Given the description of an element on the screen output the (x, y) to click on. 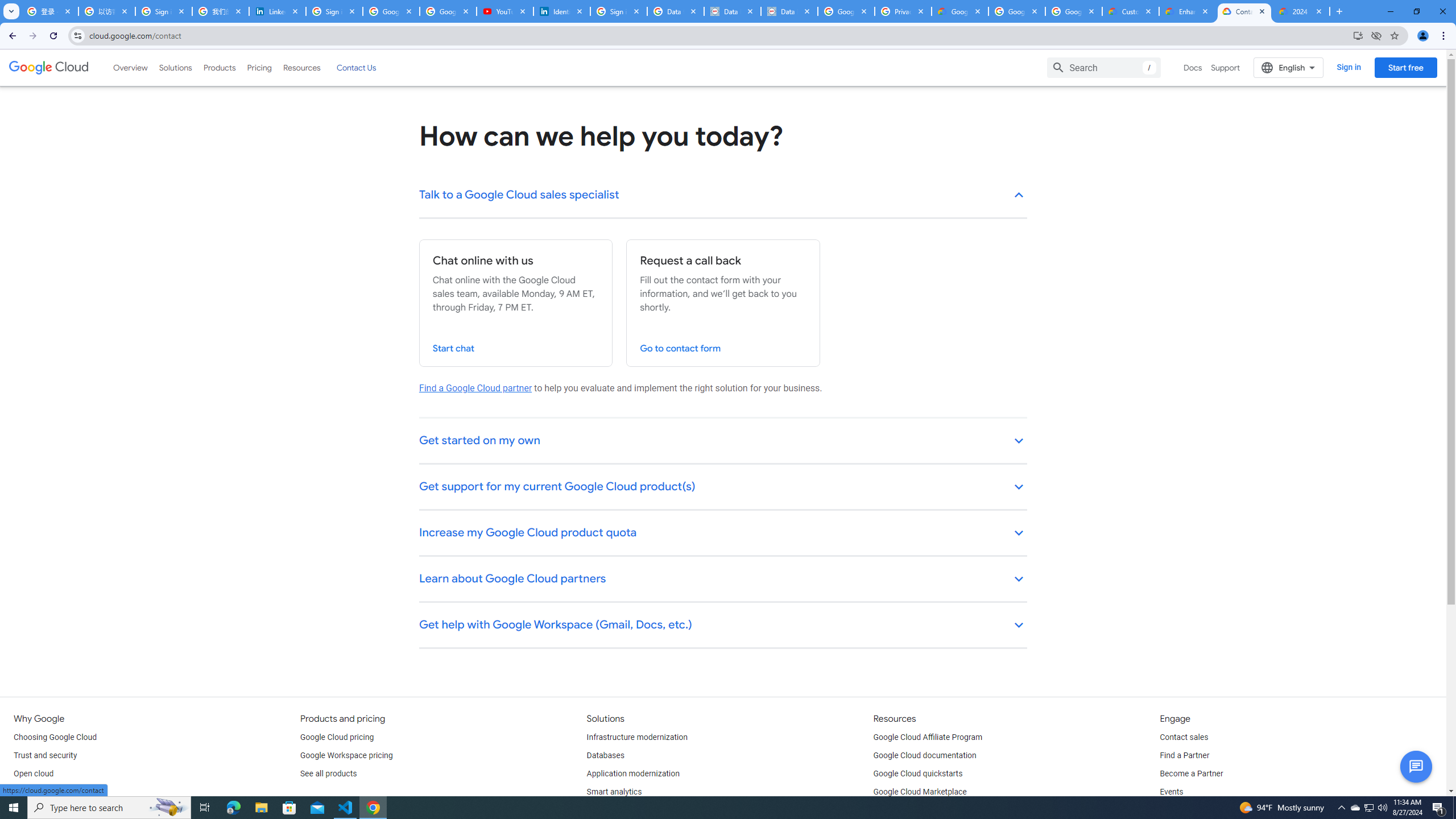
Contact sales (1183, 737)
Find a Google Cloud partner (475, 387)
Google Workspace - Specific Terms (1015, 11)
Google Cloud pricing (336, 737)
Pricing (259, 67)
Forward (32, 35)
Docs (1192, 67)
LinkedIn Privacy Policy (277, 11)
Chrome (1445, 35)
